Given the description of an element on the screen output the (x, y) to click on. 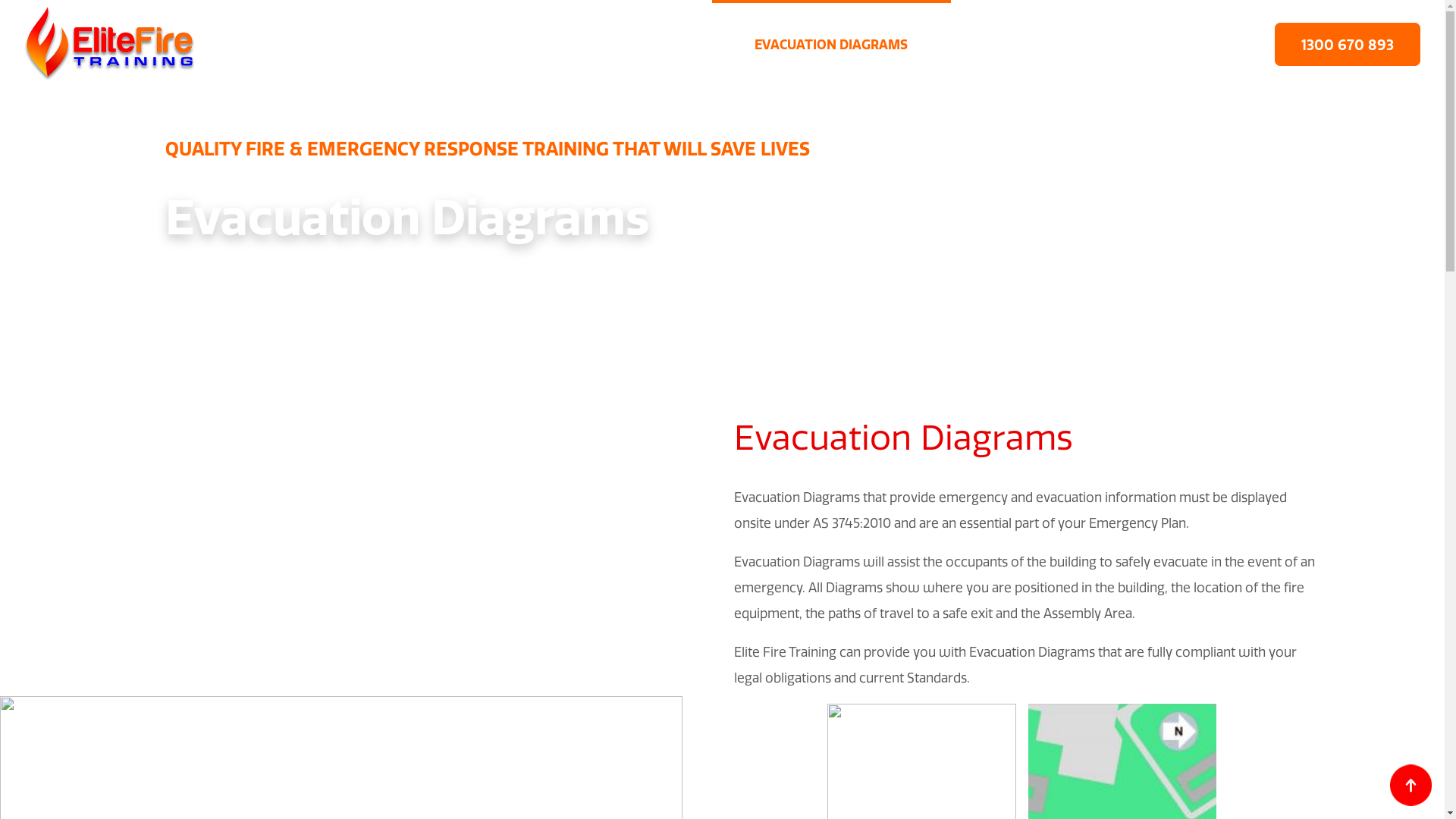
CONTACT Element type: text (1179, 44)
1300 670 893 Element type: text (1347, 43)
Go to top Element type: hover (1410, 785)
SERVICES Element type: text (1028, 44)
HOME Element type: text (280, 44)
FIRE TRAINING COURSES Element type: text (592, 44)
ABOUT Element type: text (408, 44)
EVACUATION DIAGRAMS Element type: text (831, 44)
